Given the description of an element on the screen output the (x, y) to click on. 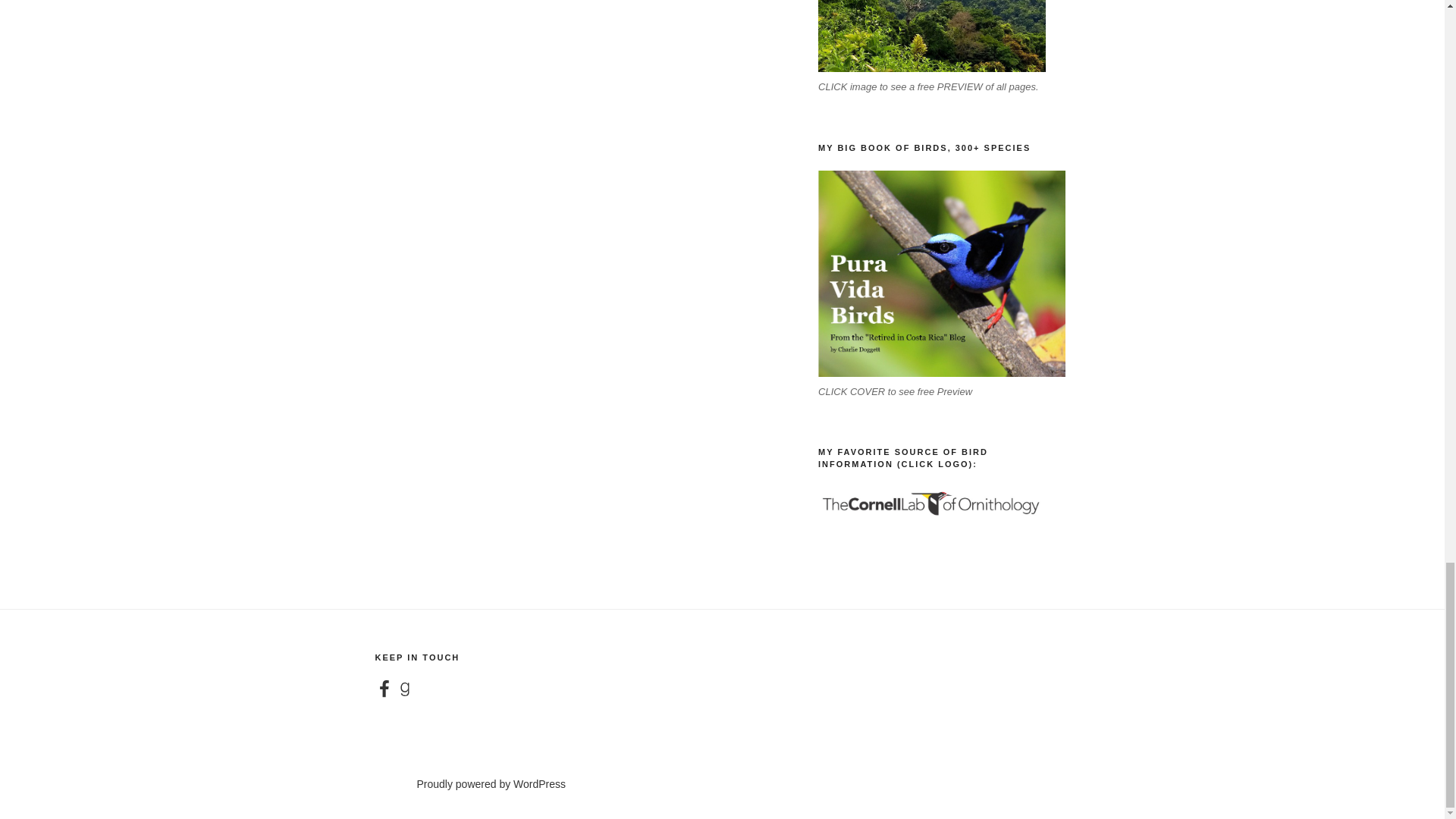
Latest Photo Book . . . (931, 36)
My Big Bird Book (941, 273)
